Given the description of an element on the screen output the (x, y) to click on. 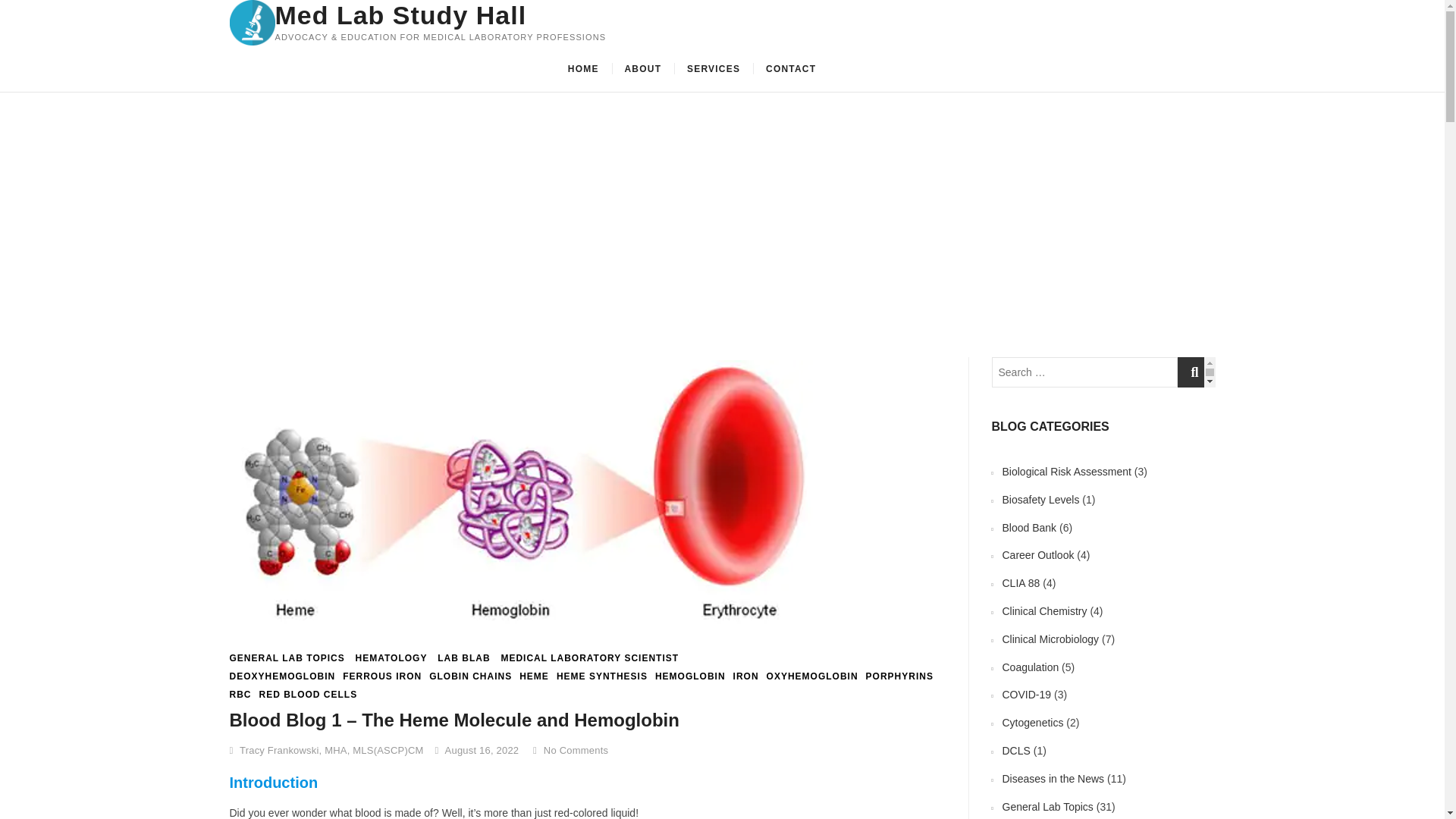
GENERAL LAB TOPICS (285, 658)
Med Lab Study Hall (440, 15)
ABOUT (642, 68)
No Comments (570, 749)
HOME (583, 68)
OXYHEMOGLOBIN (813, 676)
HEME (533, 676)
FERROUS IRON (382, 676)
RED BLOOD CELLS (308, 694)
CONTACT (790, 68)
